Given the description of an element on the screen output the (x, y) to click on. 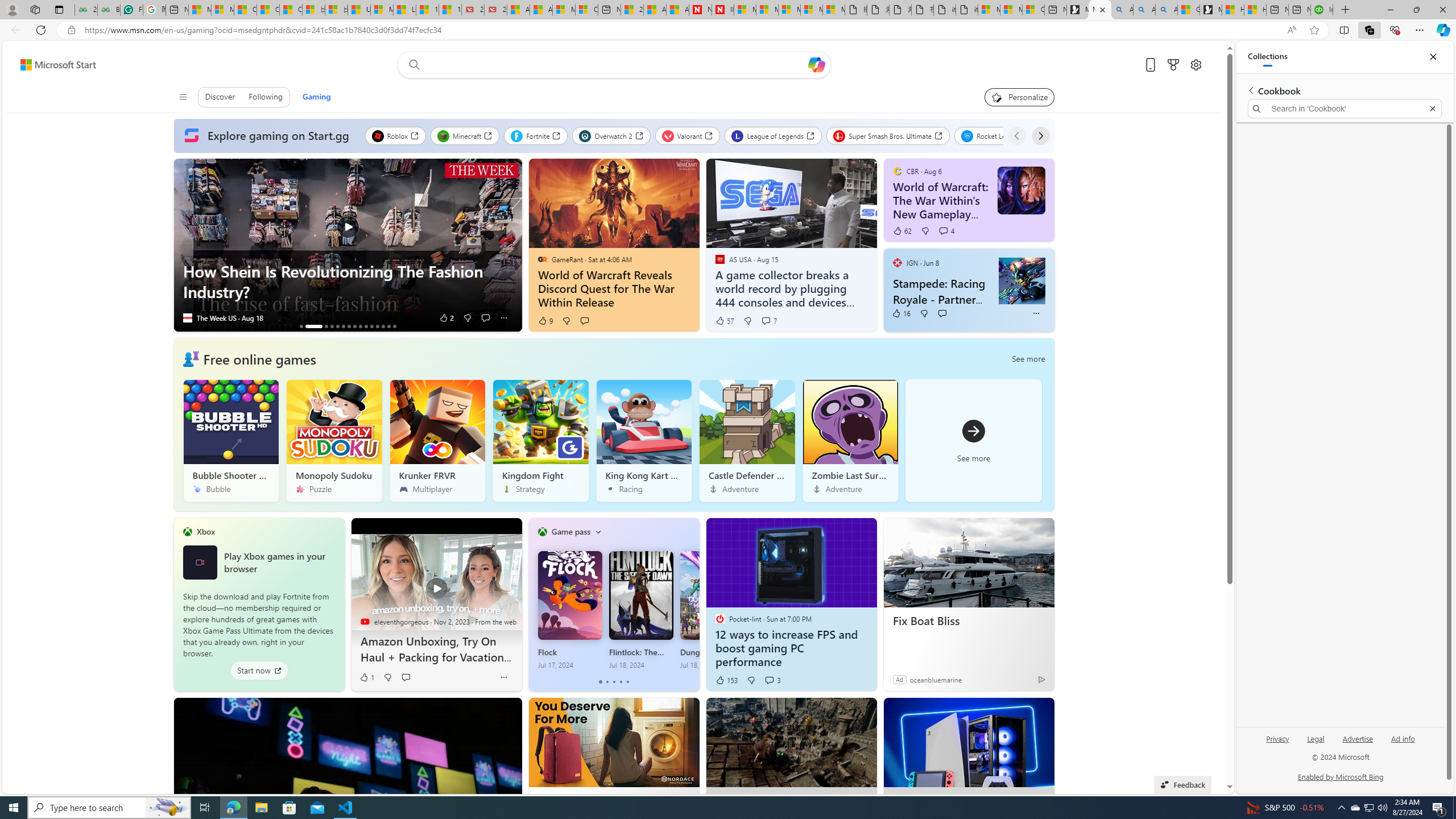
Stampede: Racing Royale - Partner Spotlight | IGN Live (1021, 280)
Alabama high school quarterback dies - Search Videos (1166, 9)
How to Use a TV as a Computer Monitor (1255, 9)
View comments 4 Comment (946, 230)
Starfield: How To Use Your Spaceship (377, 326)
Flock Jul 17, 2024 (569, 610)
Castle Defender Saga (746, 440)
